Given the description of an element on the screen output the (x, y) to click on. 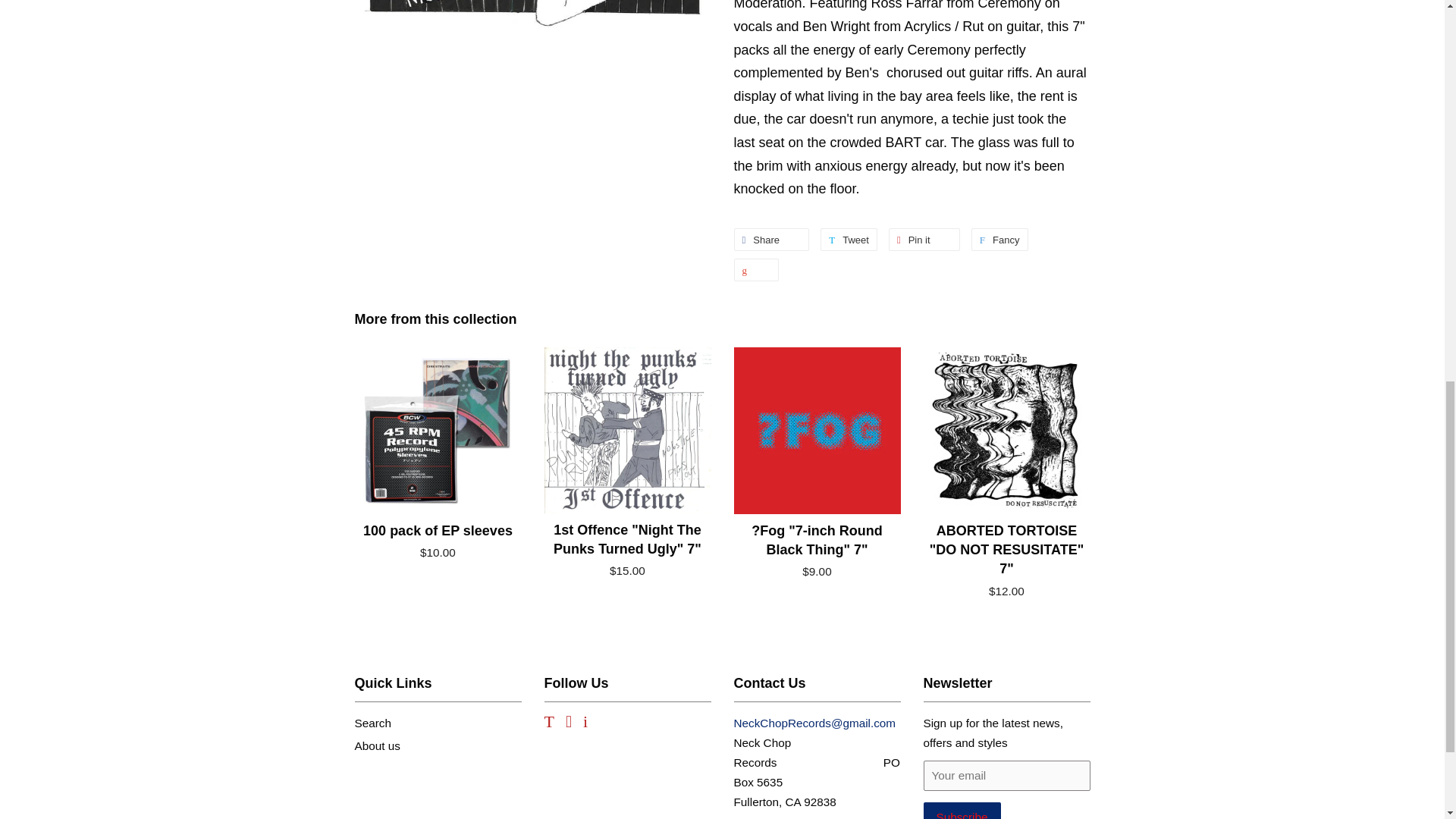
Pin on Pinterest (849, 239)
Add to Fancy (771, 239)
Subscribe (999, 239)
Share on Facebook (923, 239)
Tweet on Twitter (999, 239)
